Given the description of an element on the screen output the (x, y) to click on. 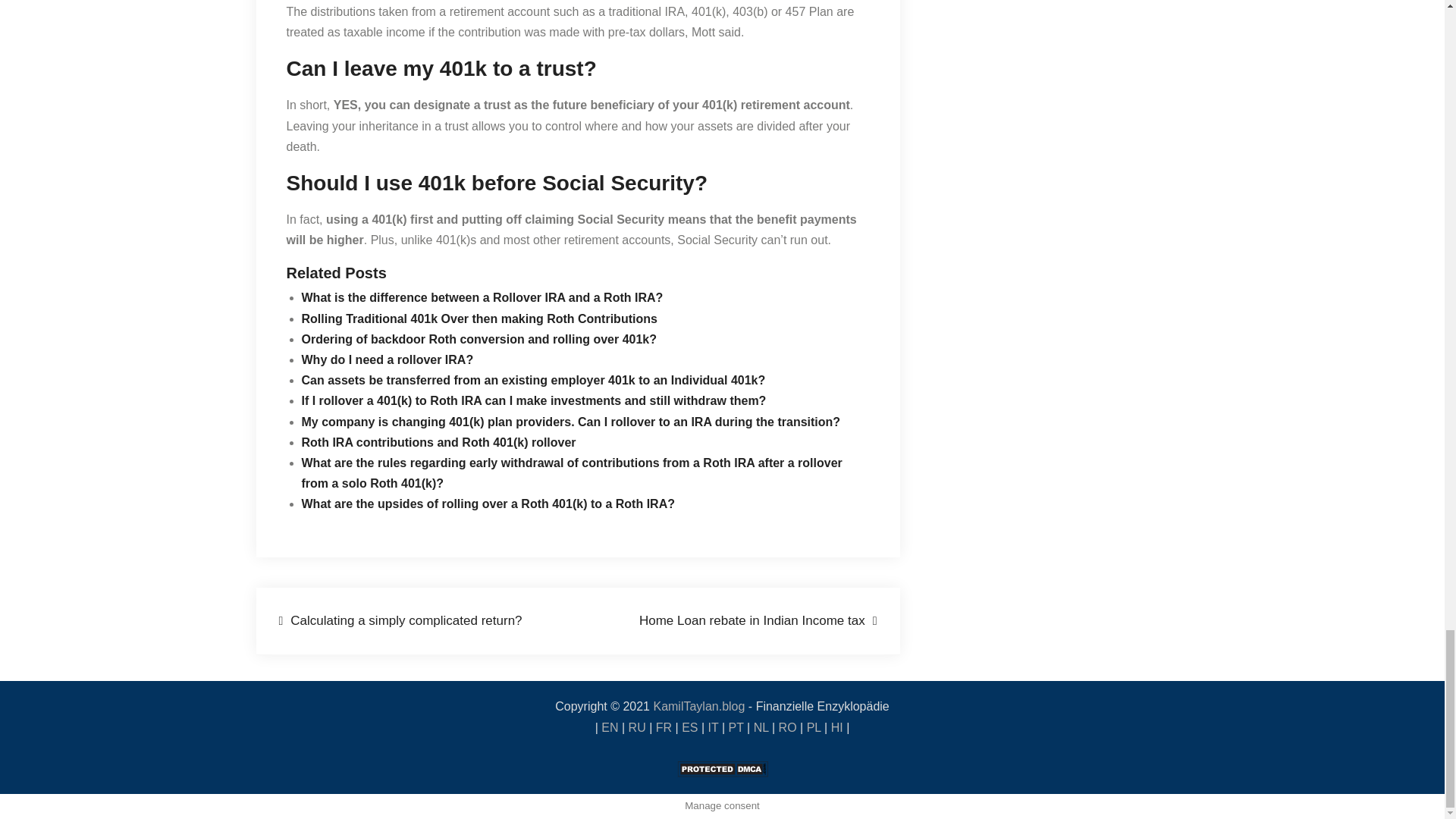
Ordering of backdoor Roth conversion and rolling over 401k? (479, 338)
Calculating a simply complicated return? (400, 621)
Why do I need a rollover IRA? (387, 359)
Home Loan rebate in Indian Income tax (758, 621)
Rolling Traditional 401k Over then making Roth Contributions (479, 318)
